Given the description of an element on the screen output the (x, y) to click on. 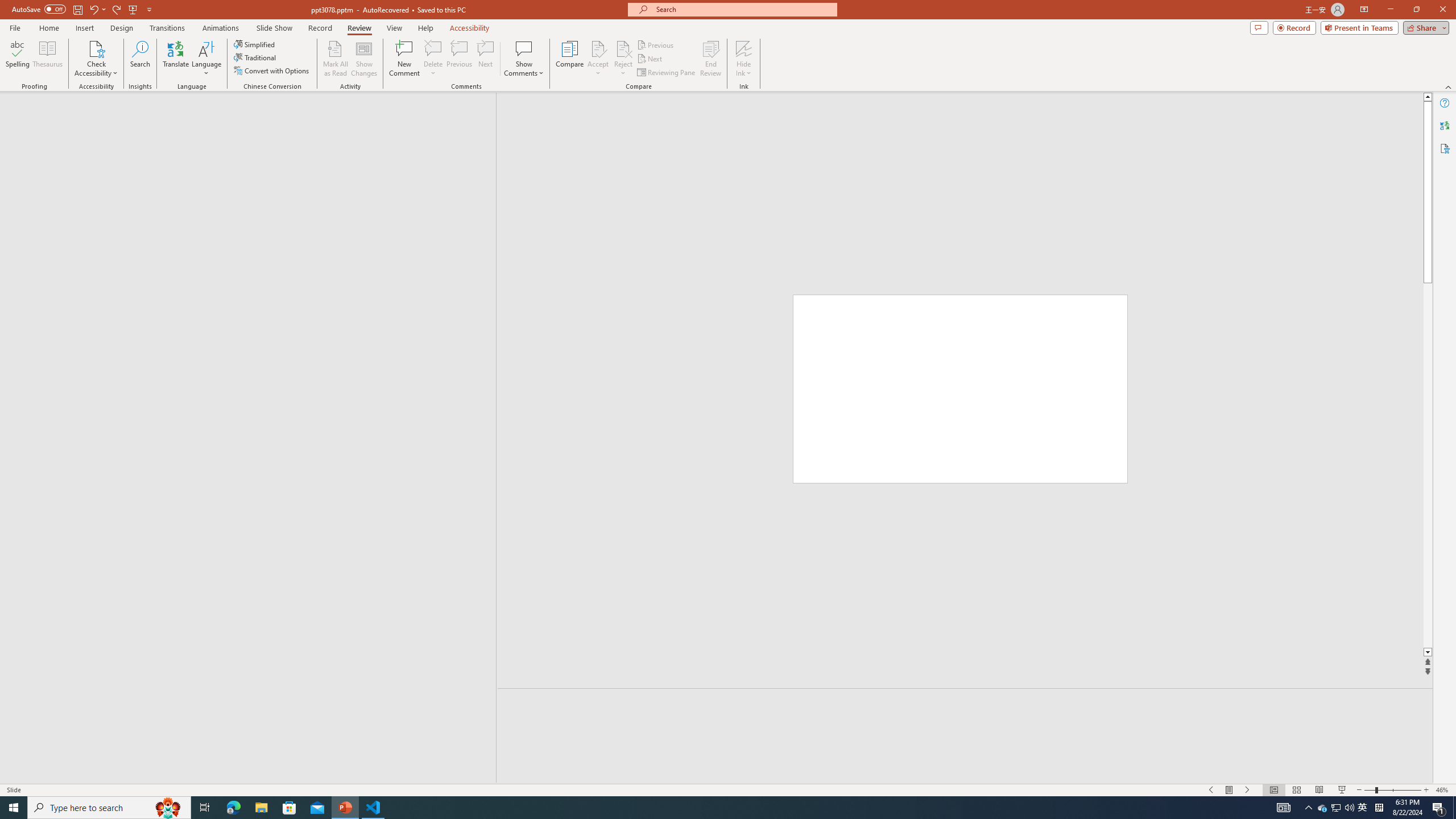
Previous (655, 44)
Compare (569, 58)
Hide Ink (743, 58)
Rectangle (242, 437)
Translator (1444, 125)
Accept Change (598, 48)
Delete (432, 48)
Zoom 46% (1443, 790)
